Given the description of an element on the screen output the (x, y) to click on. 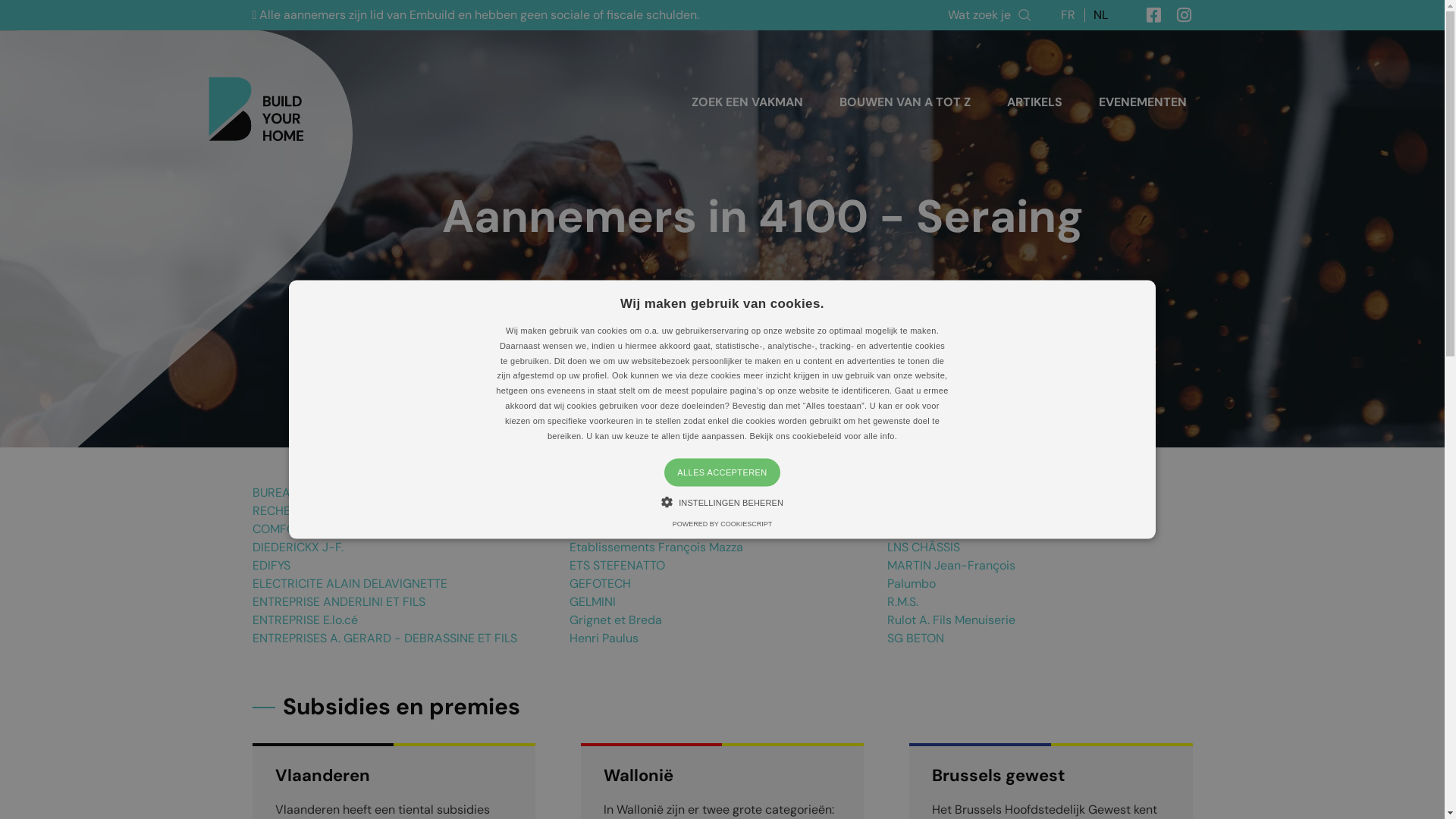
Wat zoek je Element type: text (988, 14)
Grignet et Breda Element type: text (615, 619)
ENTREPRISES DI MATTEO & FILS Element type: text (657, 510)
ENTREPRISES A. GERARD - DEBRASSINE ET FILS Element type: text (383, 638)
COMFORT GILSON Element type: text (302, 528)
Dutch Element type: text (1100, 14)
GELMINI Element type: text (592, 601)
DIEDERICKX J-F. Element type: text (296, 547)
SG BETON Element type: text (915, 638)
INTERBAT Element type: text (914, 492)
Henri Paulus Element type: text (603, 638)
Appliquer Element type: text (1141, 40)
ELECTRICITE ALAIN DELAVIGNETTE Element type: text (348, 583)
EVENEMENTEN Element type: text (1142, 102)
ZOEK EEN VAKMAN Element type: text (747, 102)
JOHN COCKERILL Element type: text (935, 528)
facebook Element type: text (1146, 15)
GEFOTECH Element type: text (599, 583)
EDIFYS Element type: text (270, 565)
BOUWEN VAN A TOT Z Element type: text (903, 102)
R.M.S. Element type: text (902, 601)
Palumbo Element type: text (911, 583)
Entreprises de Vitrage en tous Genres-Marcel Delvoie Element type: text (719, 492)
Rulot A. Fils Menuiserie Element type: text (951, 619)
Bekijk ons cookiebeleid voor alle info. Element type: text (823, 434)
POWERED BY COOKIESCRIPT Element type: text (721, 523)
JEROME-GRANITS Element type: text (938, 510)
instagram Element type: text (1176, 15)
BUREAU D'ETUDES INFORMATIQUES ET DE RECHERCHES Element type: text (367, 501)
ETS STEFENATTO Element type: text (617, 565)
ARTIKELS Element type: text (1034, 102)
ENTREPRISE ANDERLINI ET FILS Element type: text (337, 601)
ENTREPRISES GYSENS SERGE Element type: text (649, 528)
